Given the description of an element on the screen output the (x, y) to click on. 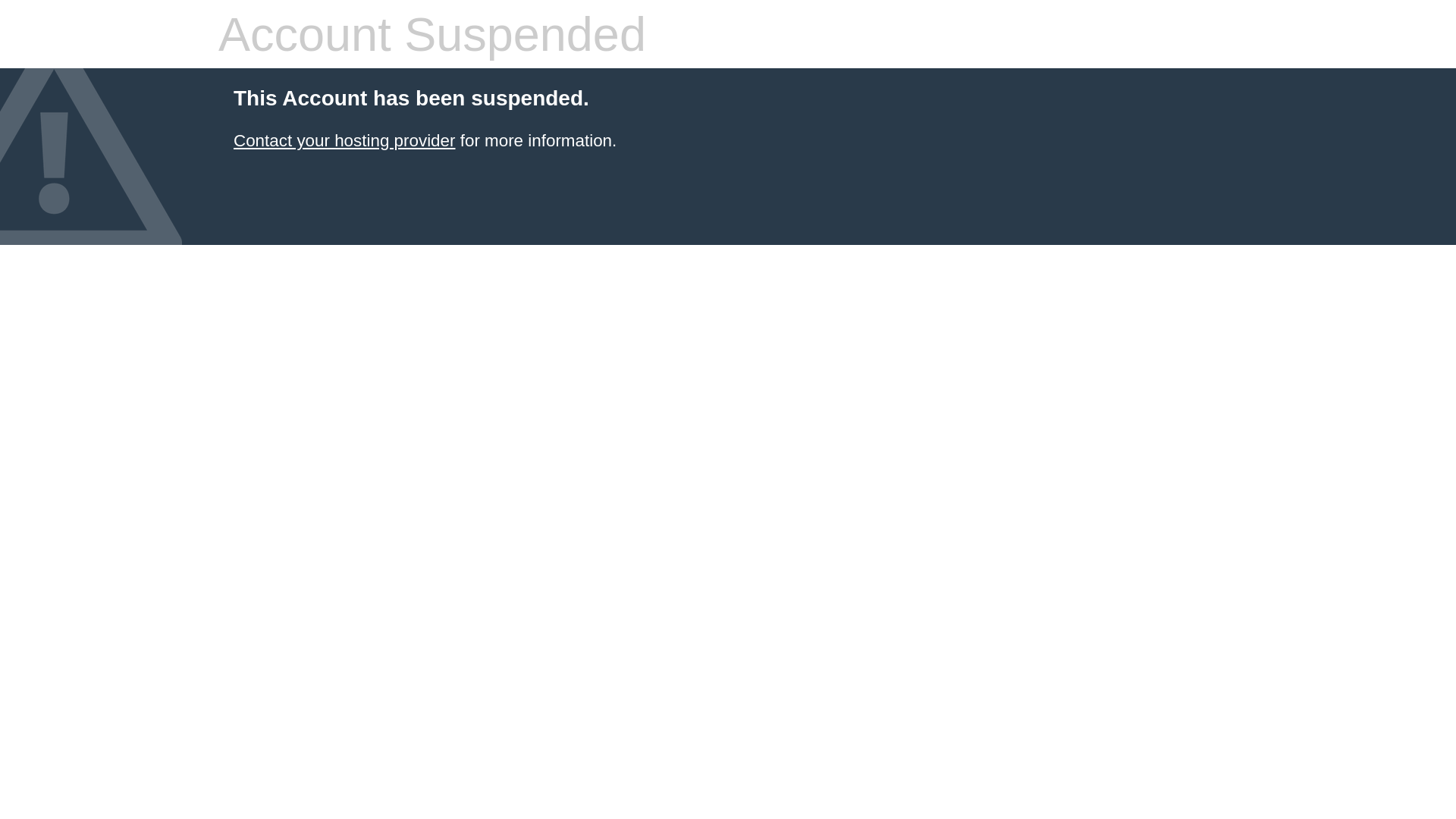
Contact your hosting provider Element type: text (344, 140)
